Given the description of an element on the screen output the (x, y) to click on. 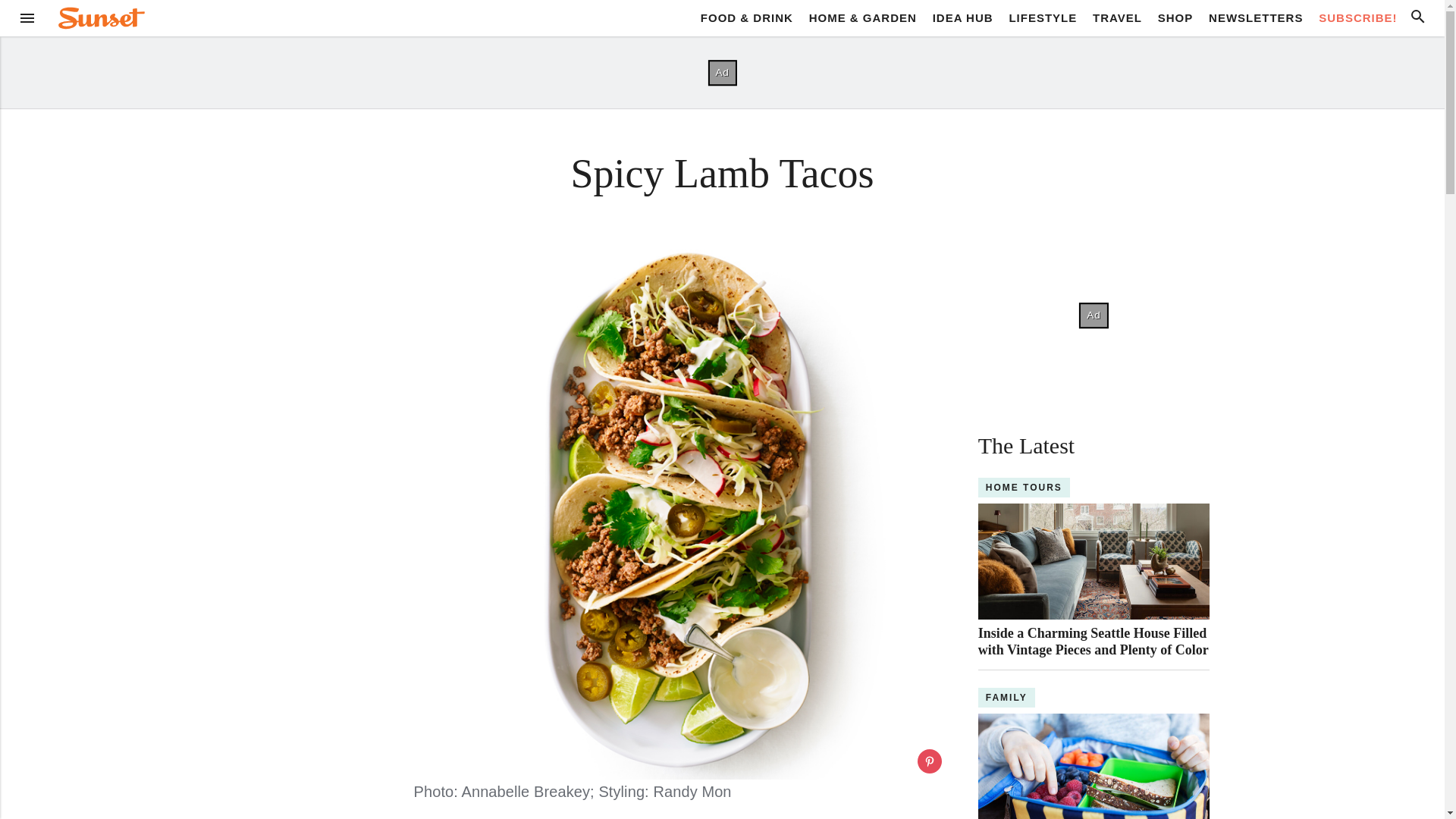
IDEA HUB (962, 17)
TRAVEL (1117, 17)
Search (1417, 16)
LIFESTYLE (1043, 17)
